Given the description of an element on the screen output the (x, y) to click on. 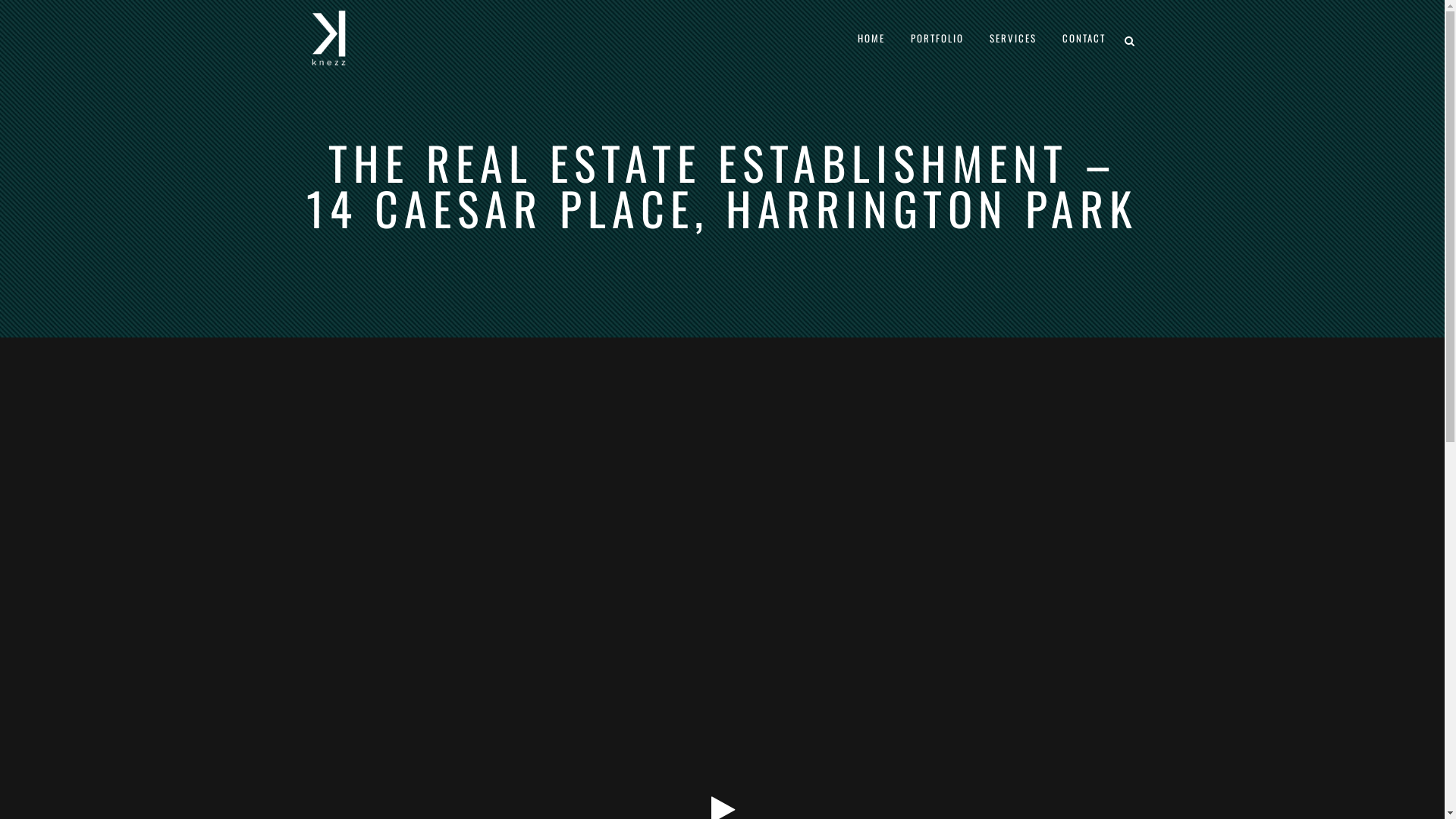
SERVICES Element type: text (1012, 37)
PORTFOLIO Element type: text (936, 37)
CONTACT Element type: text (1083, 37)
HOME Element type: text (870, 37)
